Given the description of an element on the screen output the (x, y) to click on. 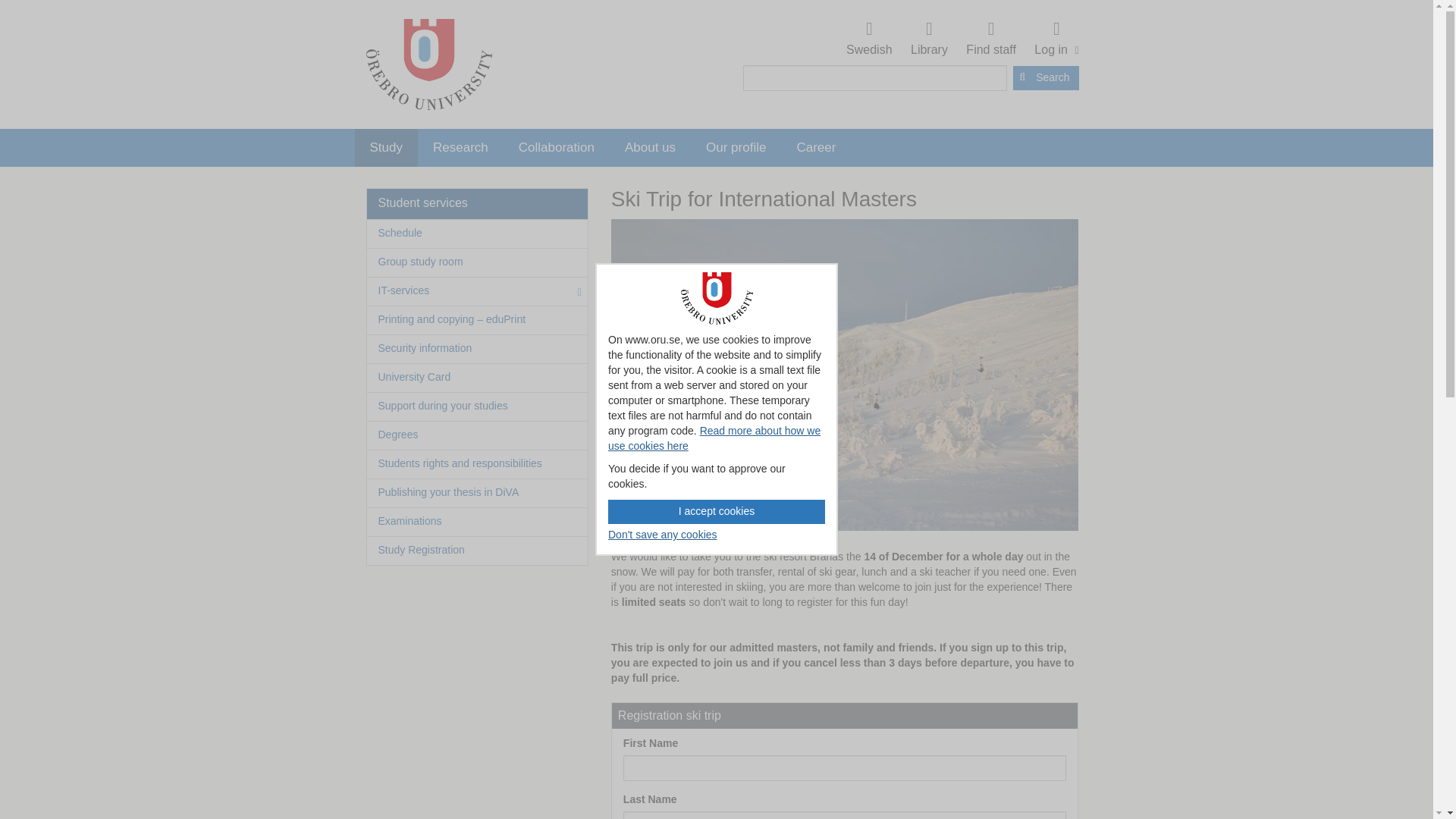
Search (1054, 39)
Study (1045, 78)
Don't save any cookies (386, 147)
Research (662, 534)
I accept cookies (460, 147)
Don't save any cookies (716, 511)
Go to Startpage (662, 534)
Swedish (428, 63)
Collaboration (869, 39)
